Given the description of an element on the screen output the (x, y) to click on. 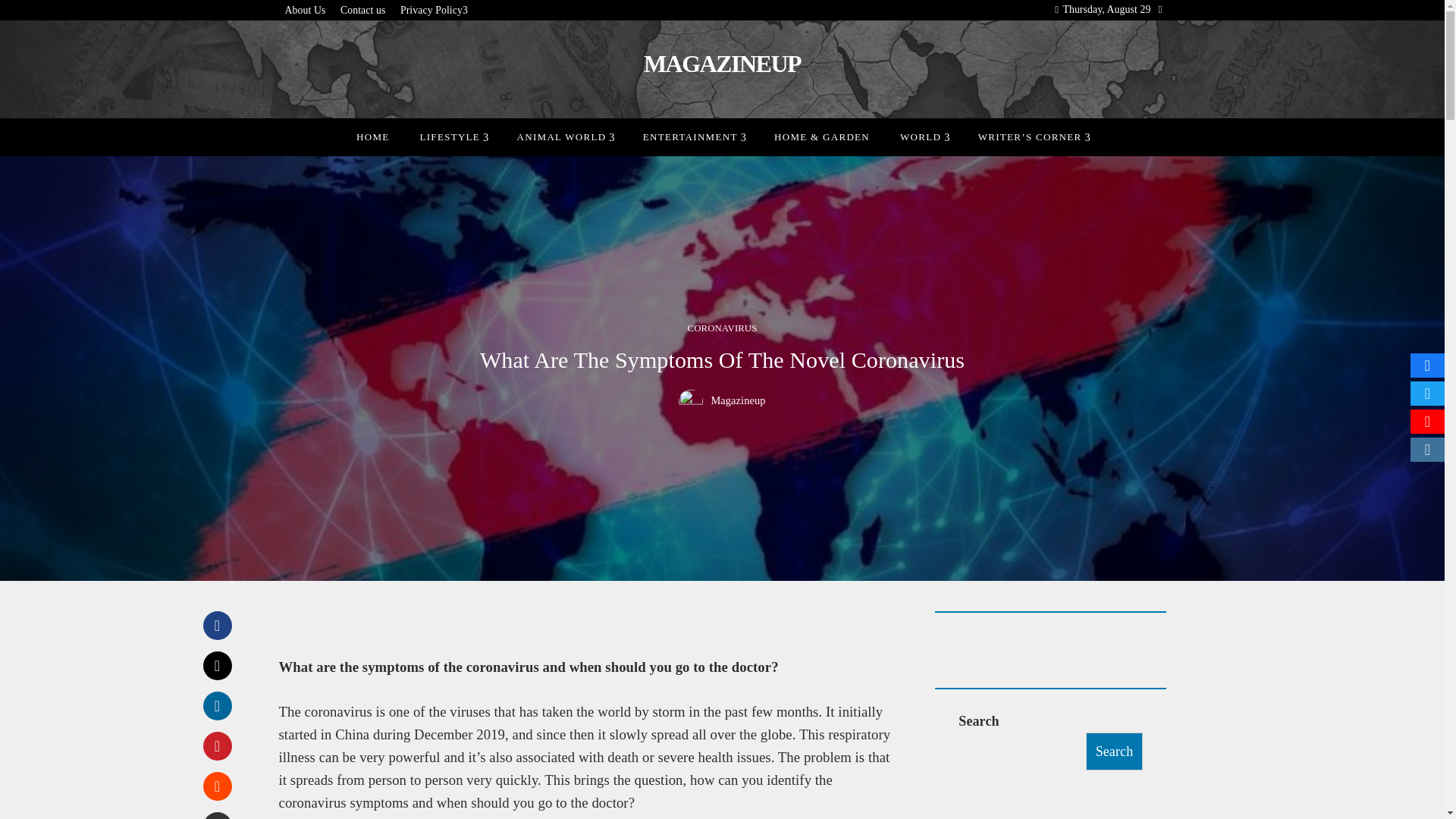
WORLD (923, 136)
HOME (372, 136)
About Us (305, 10)
Contact us (362, 10)
ENTERTAINMENT (692, 136)
Privacy Policy (433, 10)
ANIMAL WORLD (564, 136)
LIFESTYLE (452, 136)
MAGAZINEUP (721, 62)
